Given the description of an element on the screen output the (x, y) to click on. 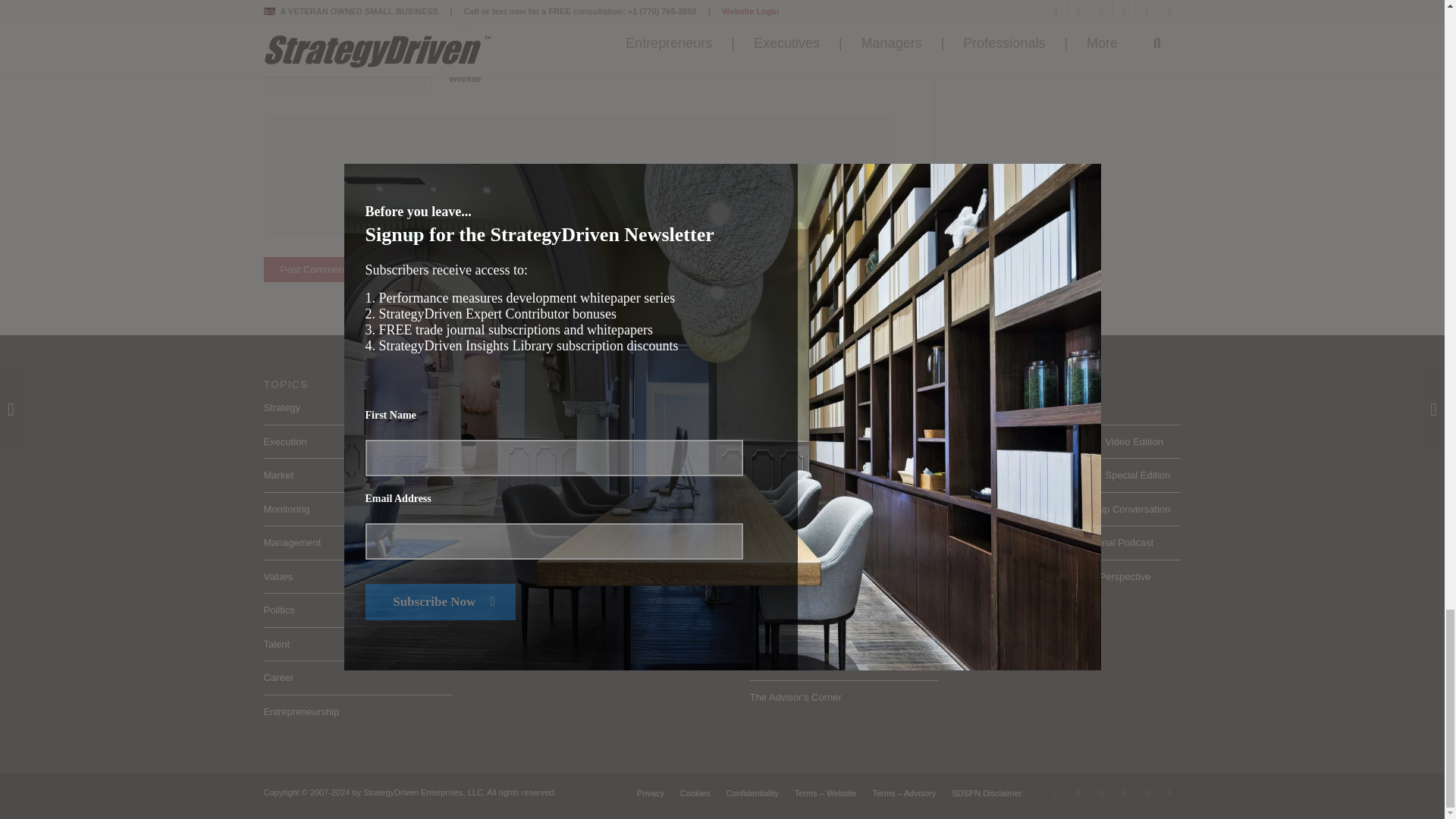
Post Comment (313, 269)
